Given the description of an element on the screen output the (x, y) to click on. 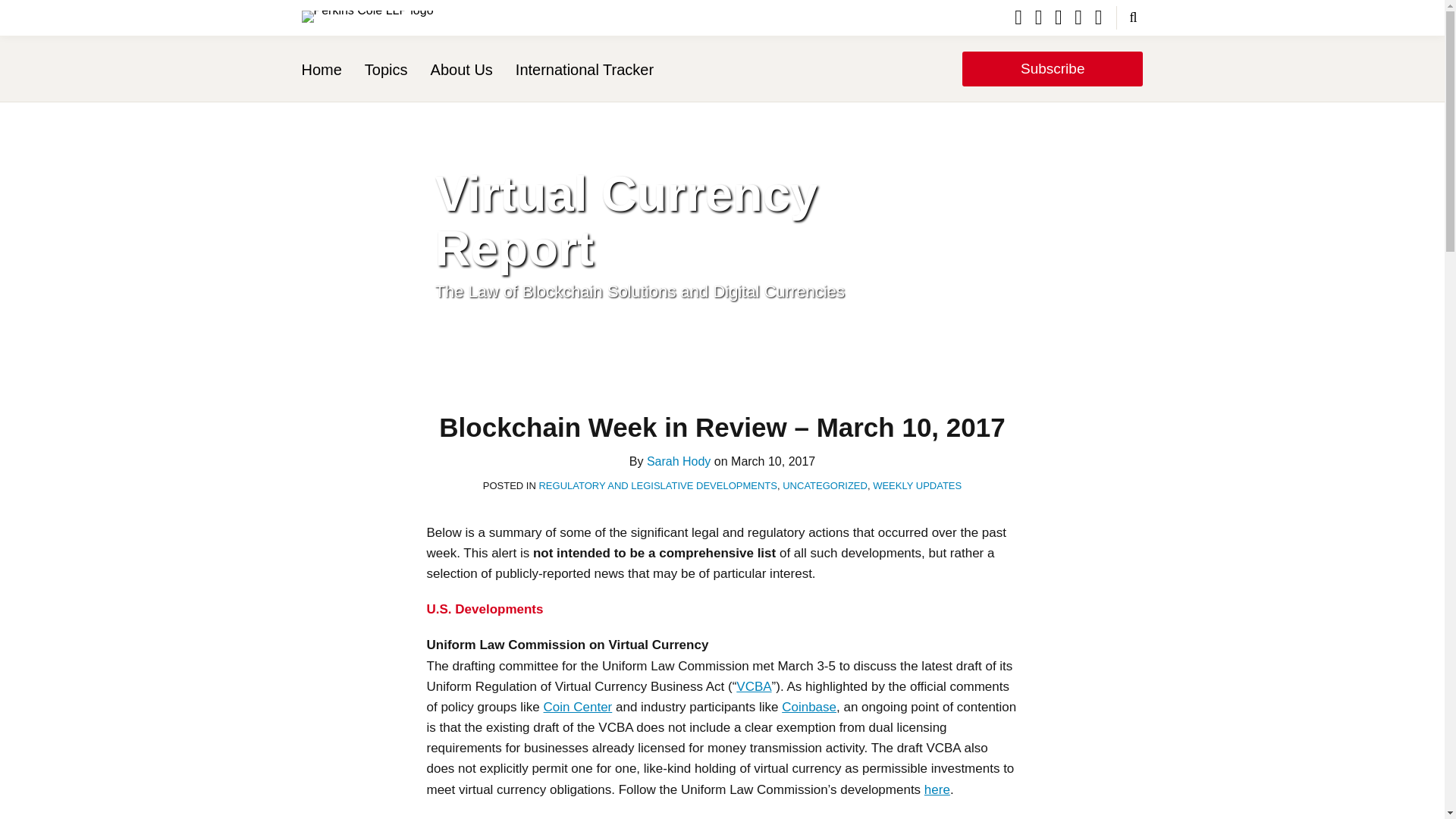
WEEKLY UPDATES (916, 485)
REGULATORY AND LEGISLATIVE DEVELOPMENTS (657, 485)
Coin Center (577, 707)
Sarah Hody (678, 461)
International Tracker (584, 69)
Virtual Currency Report (626, 221)
Topics (386, 69)
VCBA (753, 686)
About Us (461, 69)
UNCATEGORIZED (825, 485)
Subscribe (1052, 68)
Coinbase (808, 707)
here (937, 789)
Home (321, 69)
